Given the description of an element on the screen output the (x, y) to click on. 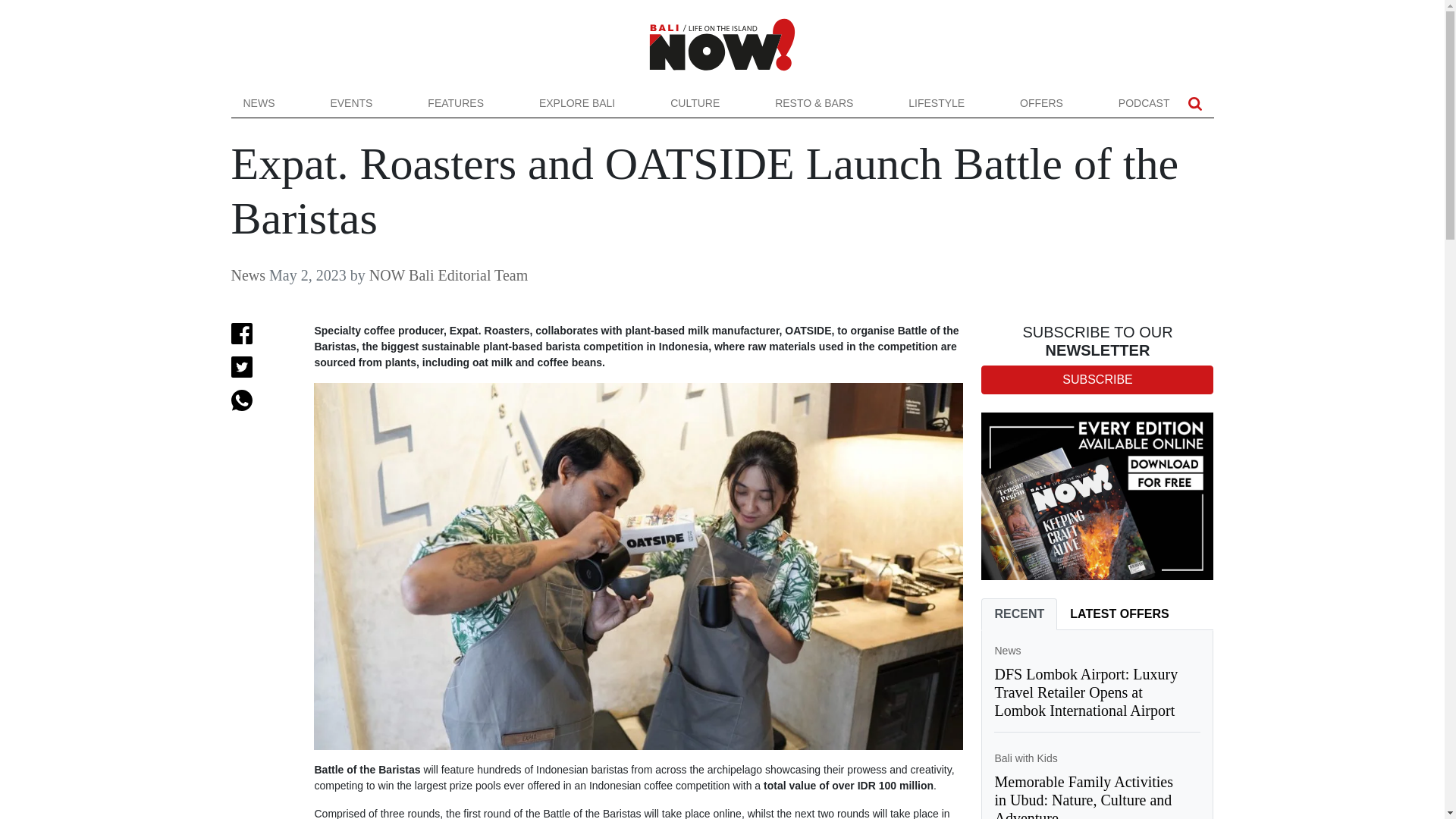
LATEST OFFERS (1118, 613)
RECENT (1019, 613)
NOW Bali Editorial Team (448, 274)
SUBSCRIBE (1096, 379)
Bali with Kids (1025, 758)
EVENTS (350, 103)
PODCAST (1144, 103)
News (1007, 650)
EXPLORE BALI (577, 103)
CULTURE (695, 103)
LIFESTYLE (936, 103)
OFFERS (1041, 103)
News (247, 274)
